Given the description of an element on the screen output the (x, y) to click on. 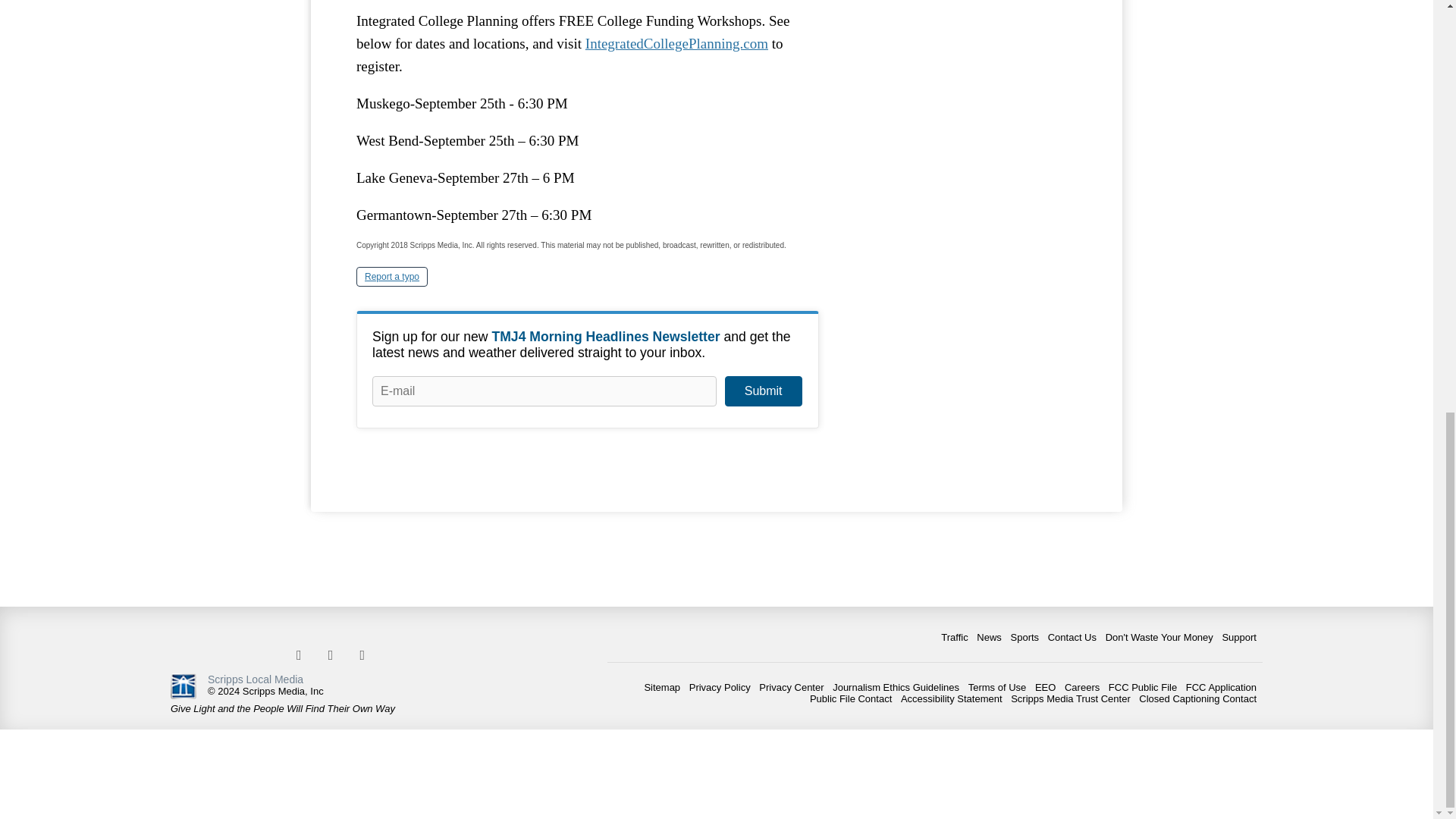
Submit (763, 390)
